Given the description of an element on the screen output the (x, y) to click on. 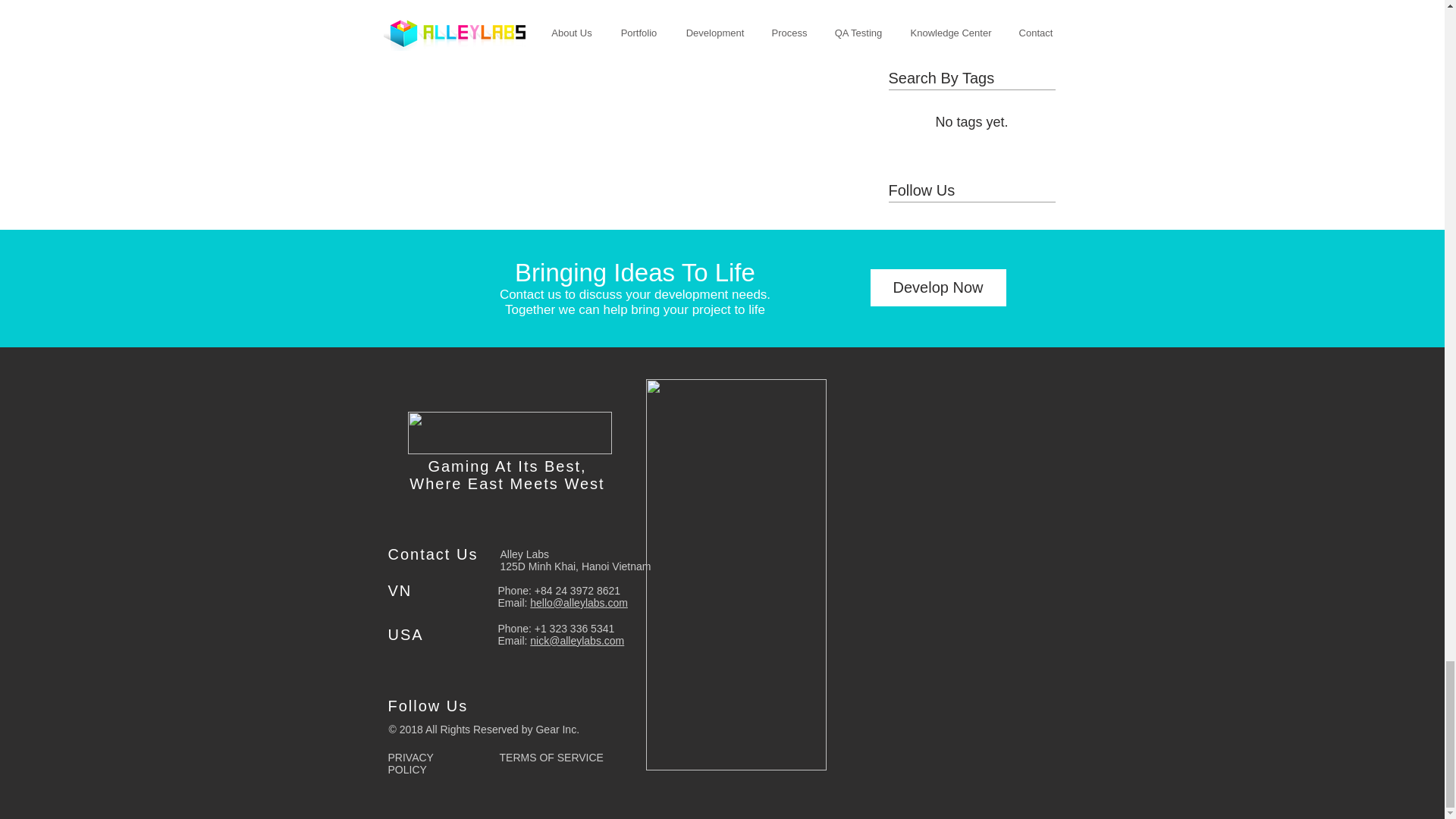
alleylabs logo 2016 W S.png (509, 432)
